Given the description of an element on the screen output the (x, y) to click on. 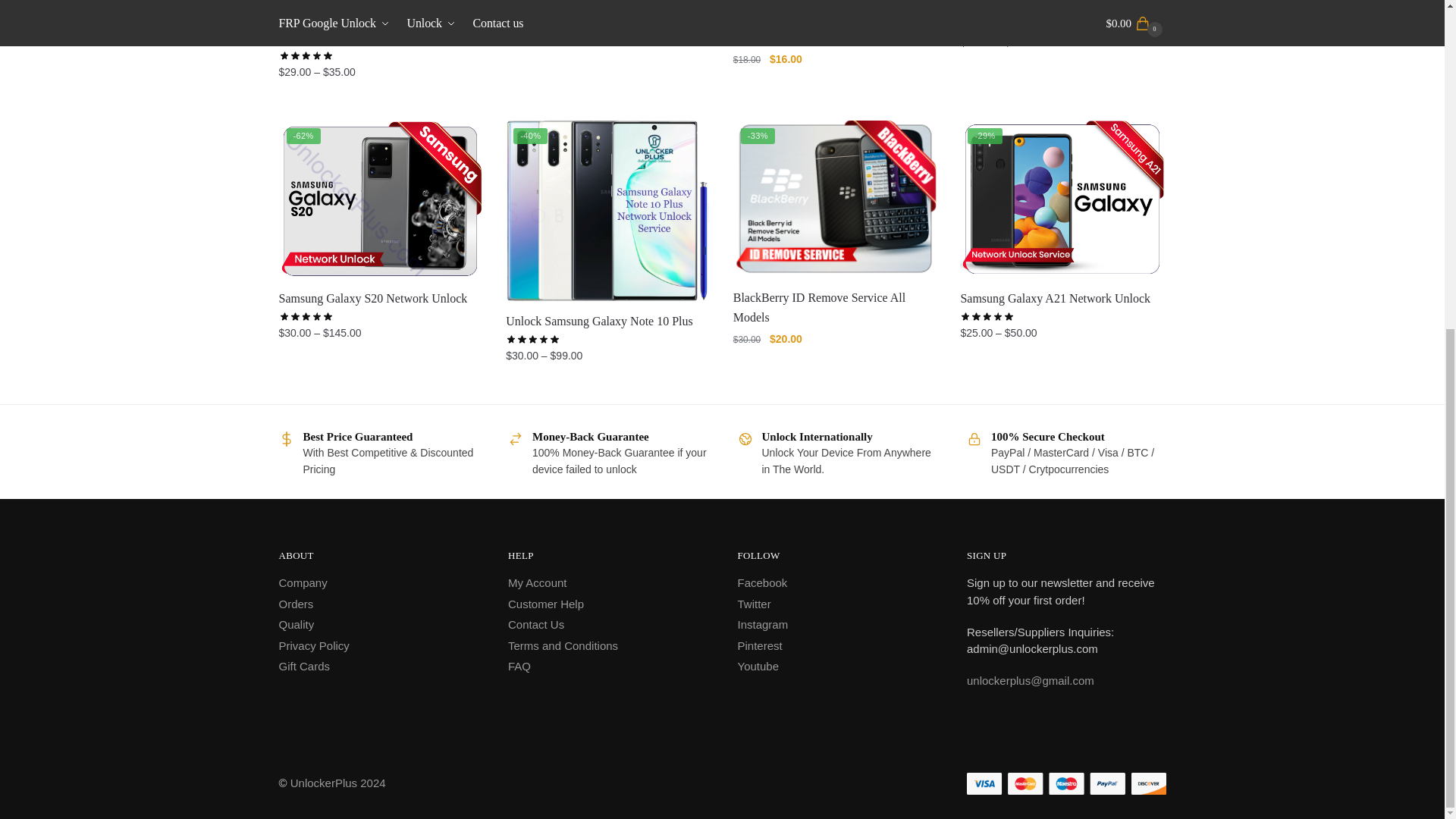
Samsung Galaxy S20 Network Unlock (381, 199)
Samsung Galaxy A21 Network Unlock (1061, 199)
Huawei FRP Unlock Service (607, 17)
LG G5 LS992 ZVF Sprint Network Unlock (835, 27)
Samsung FRP Google Account Unlock Service Worldwide (381, 27)
BlackBerry ID Remove Service All Models (835, 198)
Unlock Samsung Galaxy Note 10 Plus (607, 210)
